Given the description of an element on the screen output the (x, y) to click on. 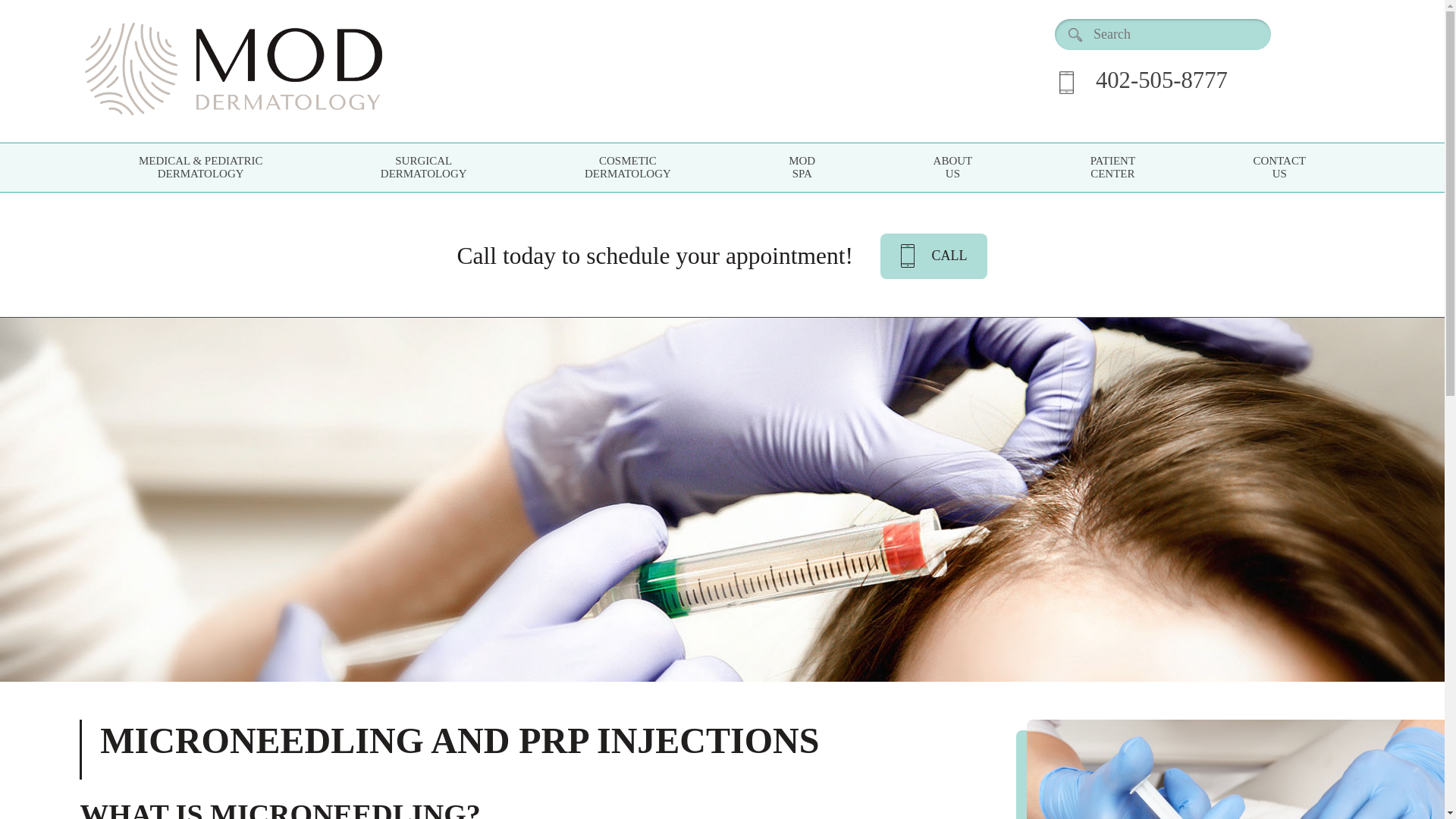
402-505-8777 (802, 166)
